Given the description of an element on the screen output the (x, y) to click on. 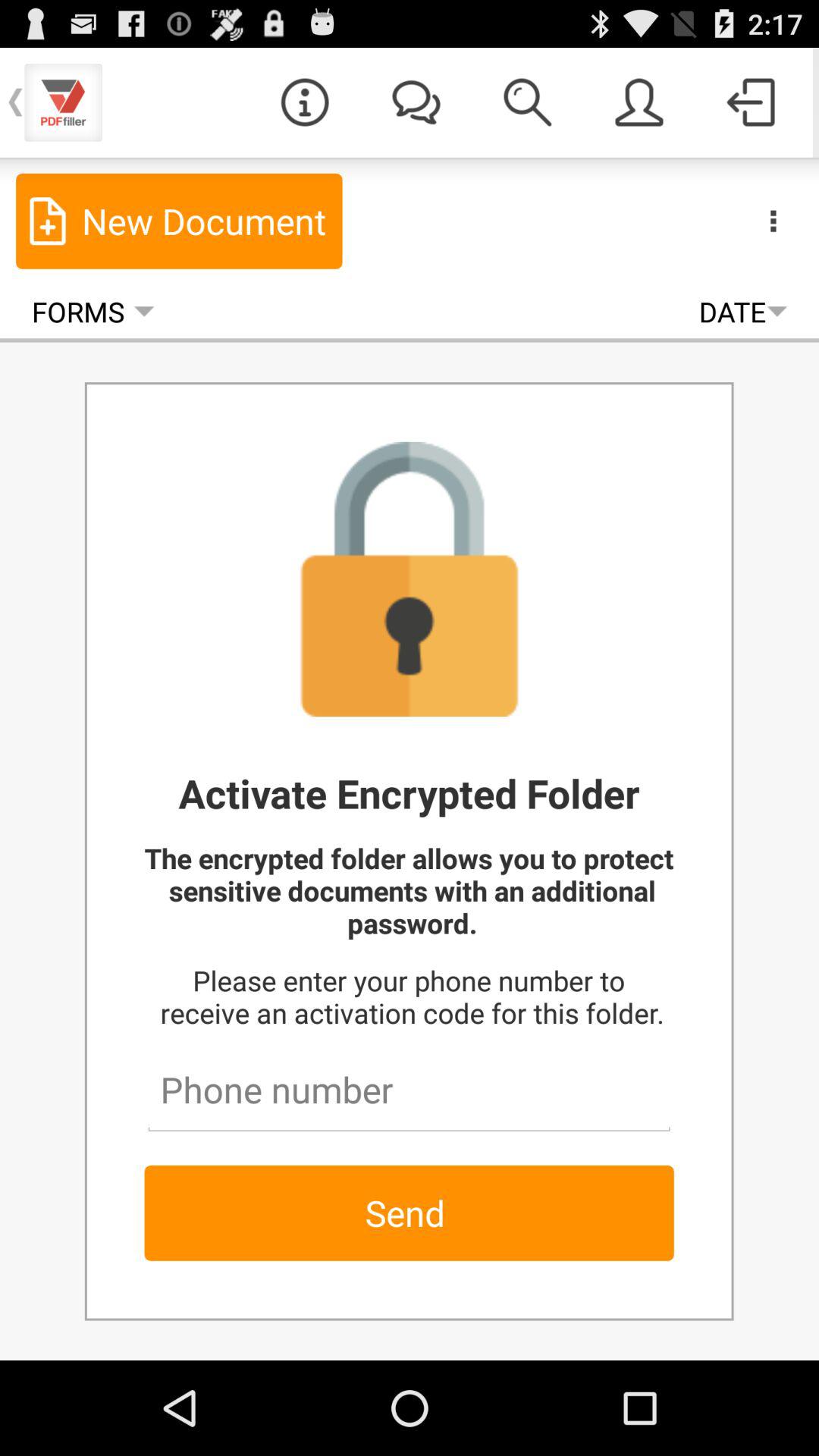
flip until the date (743, 311)
